Given the description of an element on the screen output the (x, y) to click on. 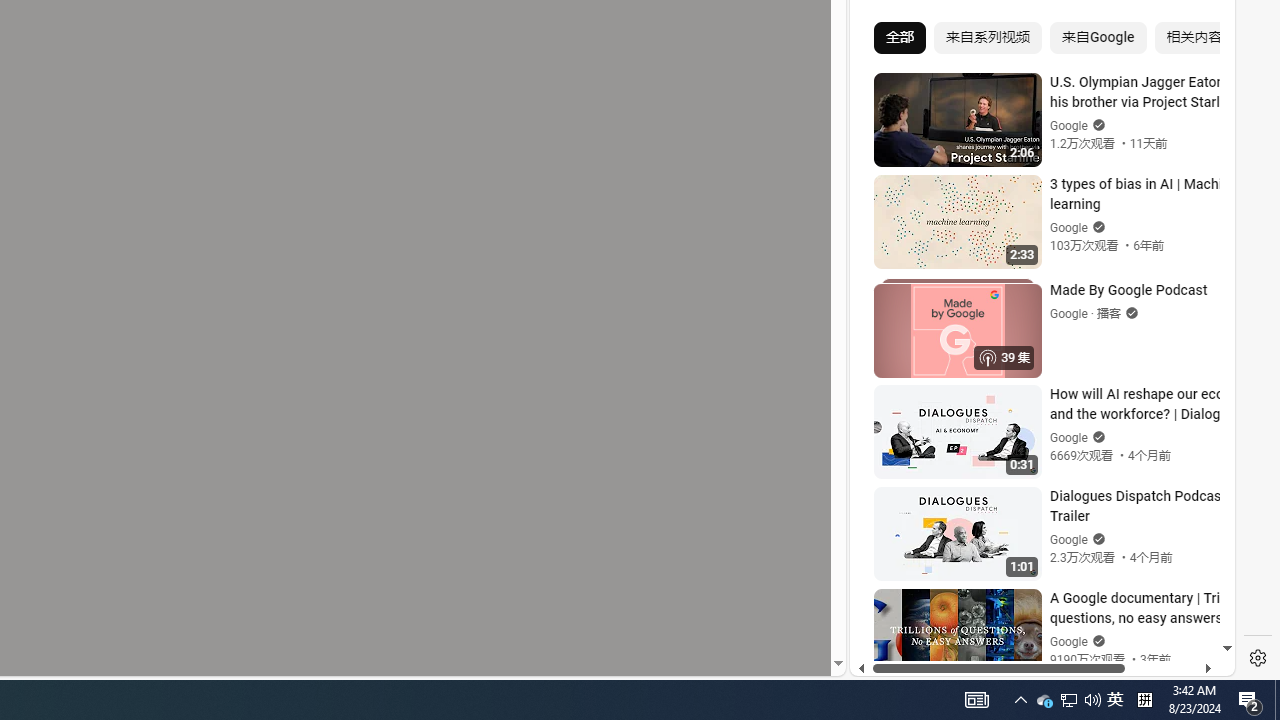
US[ju] (917, 660)
YouTube - YouTube (1034, 266)
Class: dict_pnIcon rms_img (1028, 660)
